Given the description of an element on the screen output the (x, y) to click on. 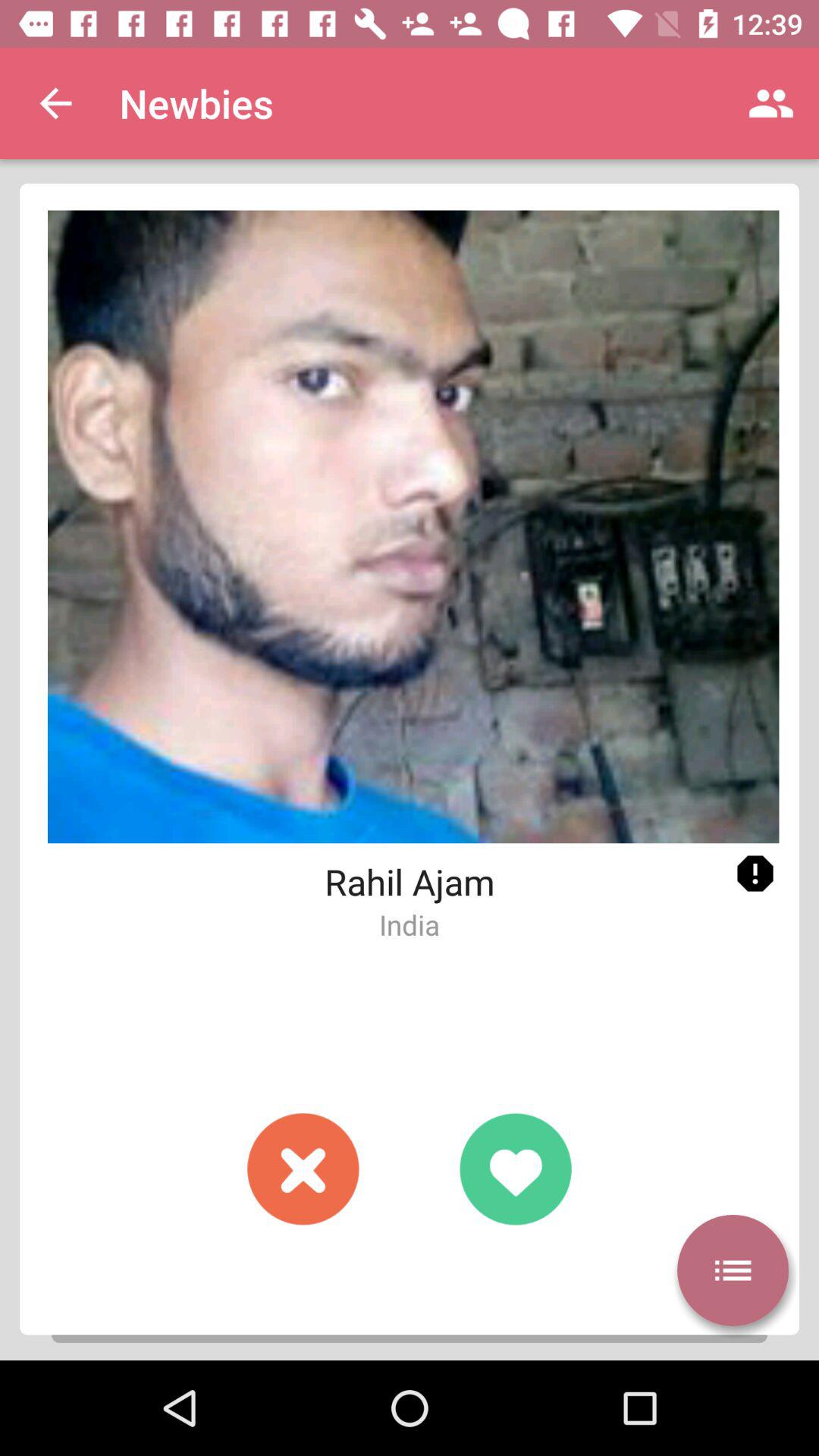
close and move on (303, 1169)
